Given the description of an element on the screen output the (x, y) to click on. 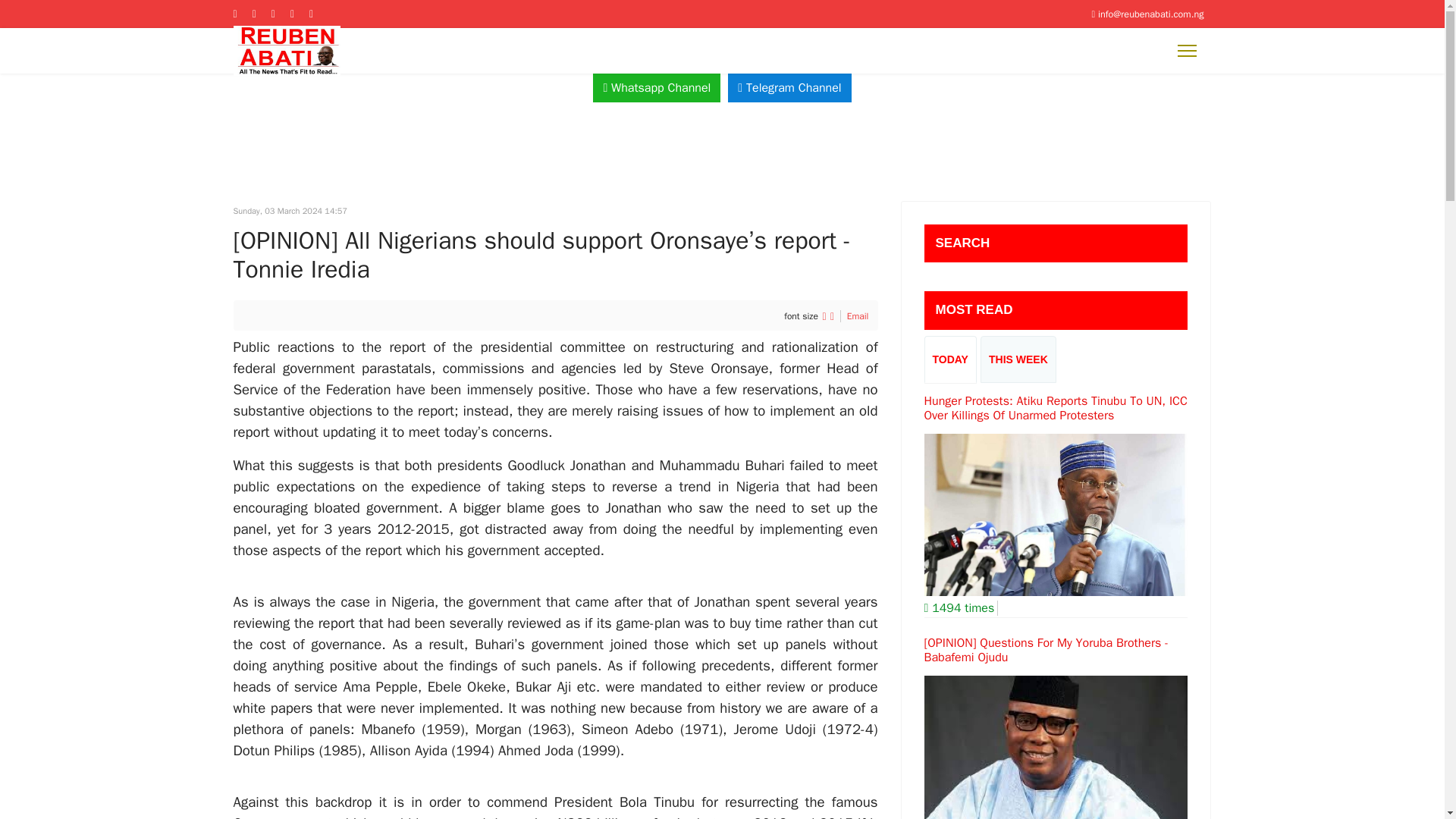
Whatsapp Channel (656, 87)
Telegram Channel (789, 87)
Email (858, 316)
